Given the description of an element on the screen output the (x, y) to click on. 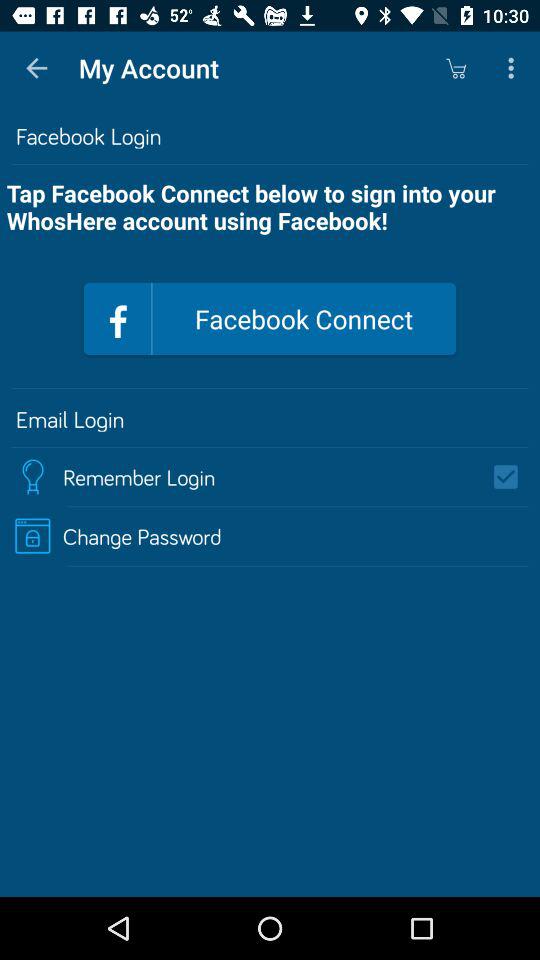
unselect (512, 477)
